Given the description of an element on the screen output the (x, y) to click on. 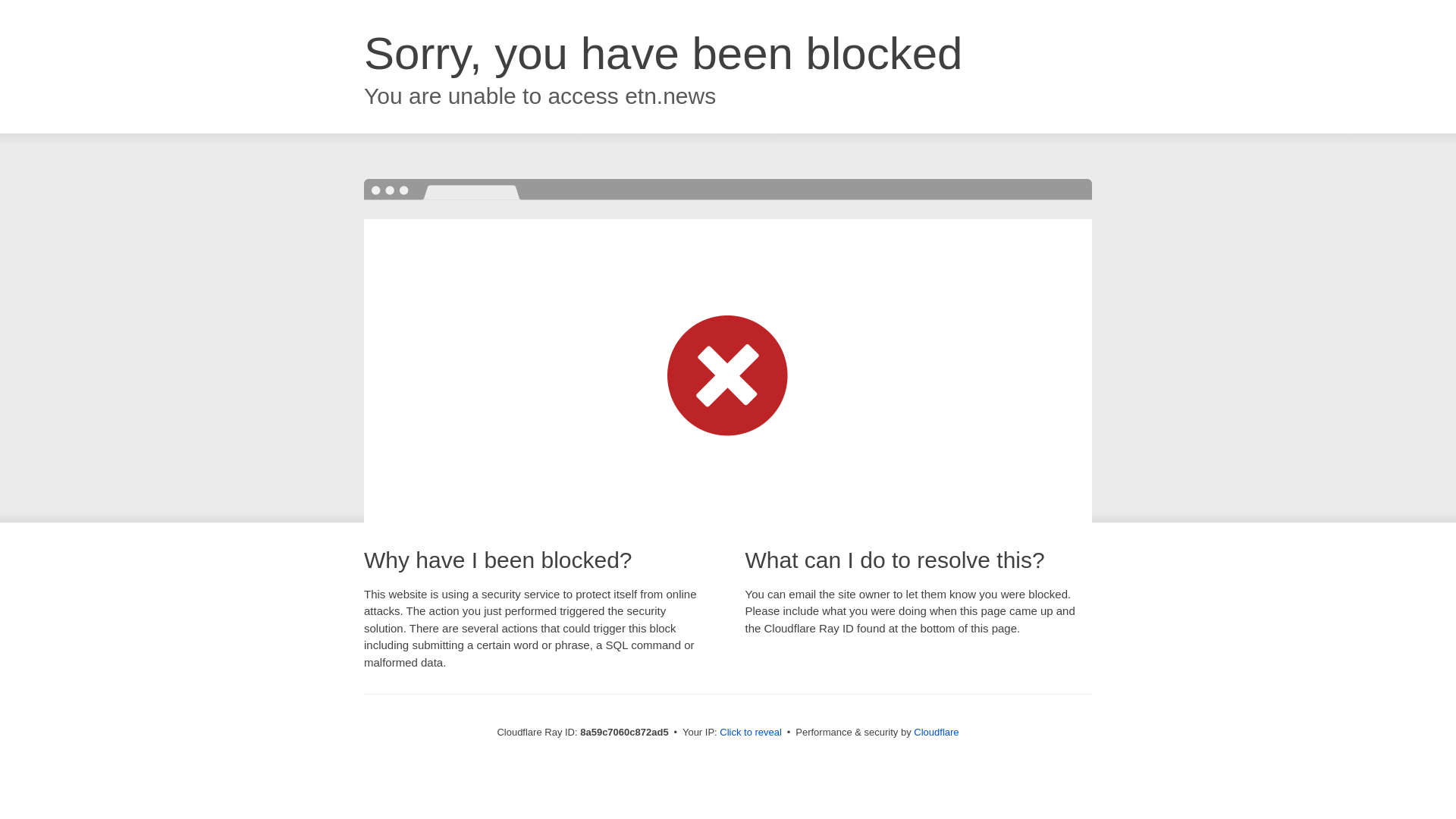
Cloudflare (936, 731)
Click to reveal (750, 732)
